Given the description of an element on the screen output the (x, y) to click on. 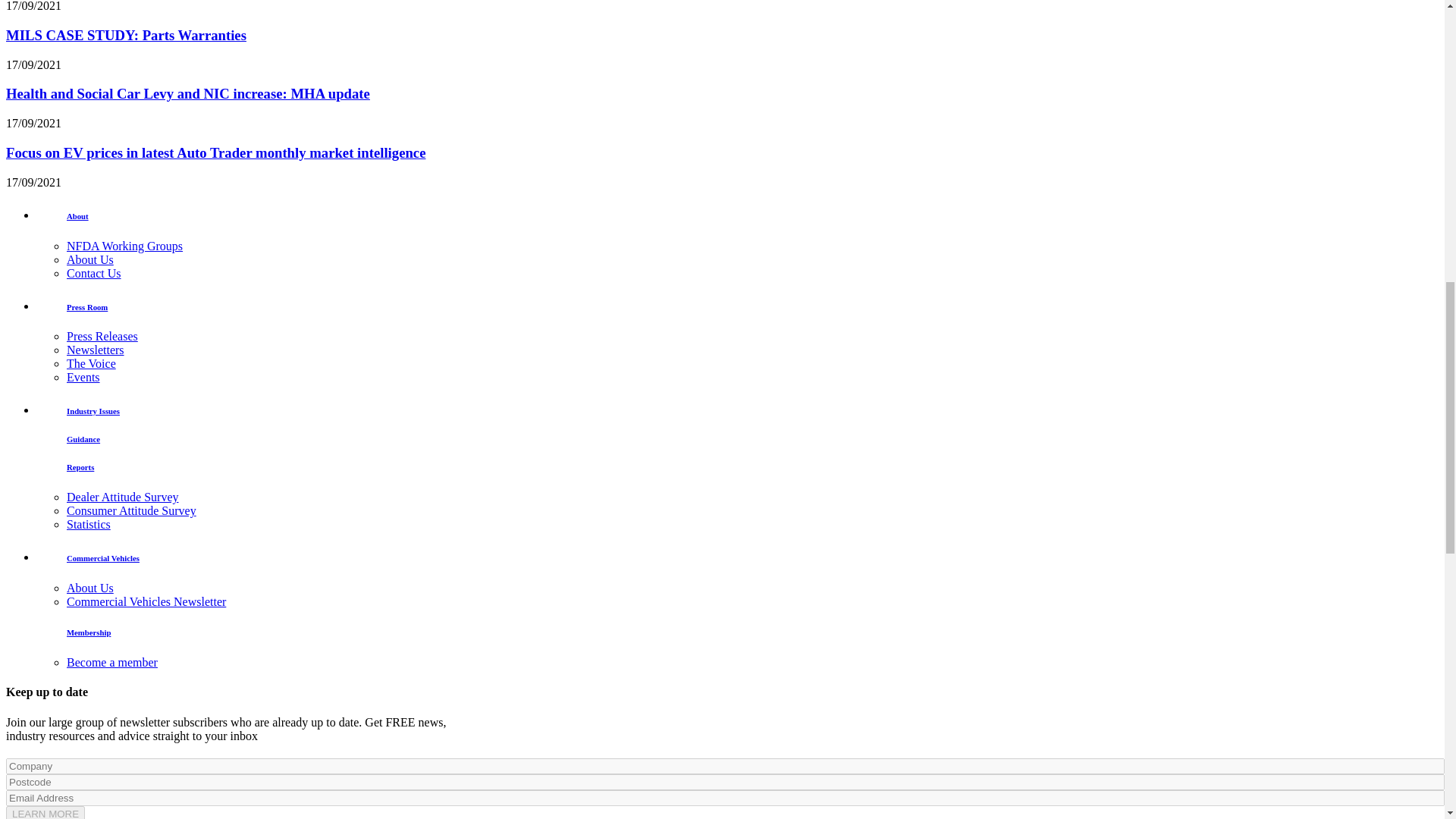
Events (83, 377)
Press Releases (102, 336)
Health and Social Car Levy and NIC increase: MHA update (187, 93)
Consumer Attitude Survey (131, 510)
Dealer Attitude Survey (122, 496)
Contact Us (93, 273)
Statistics (88, 523)
Newsletters (94, 349)
About Us (89, 587)
MILS CASE STUDY: Parts Warranties (125, 35)
About Us (89, 259)
NFDA Working Groups (124, 245)
The Voice (91, 363)
